Given the description of an element on the screen output the (x, y) to click on. 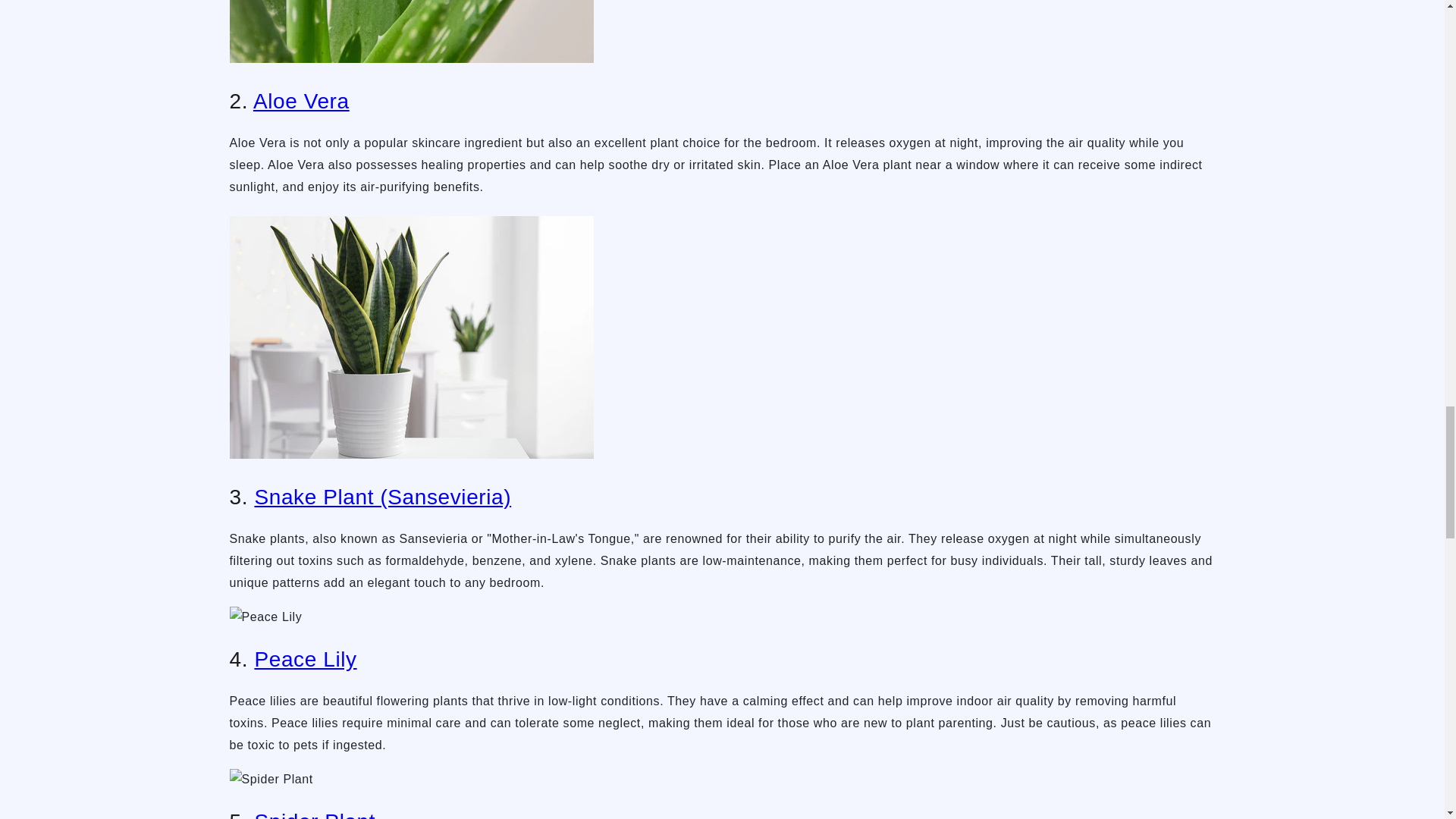
Aloe Vera (301, 101)
Spider Plant (314, 814)
Peace Lily (304, 658)
